Given the description of an element on the screen output the (x, y) to click on. 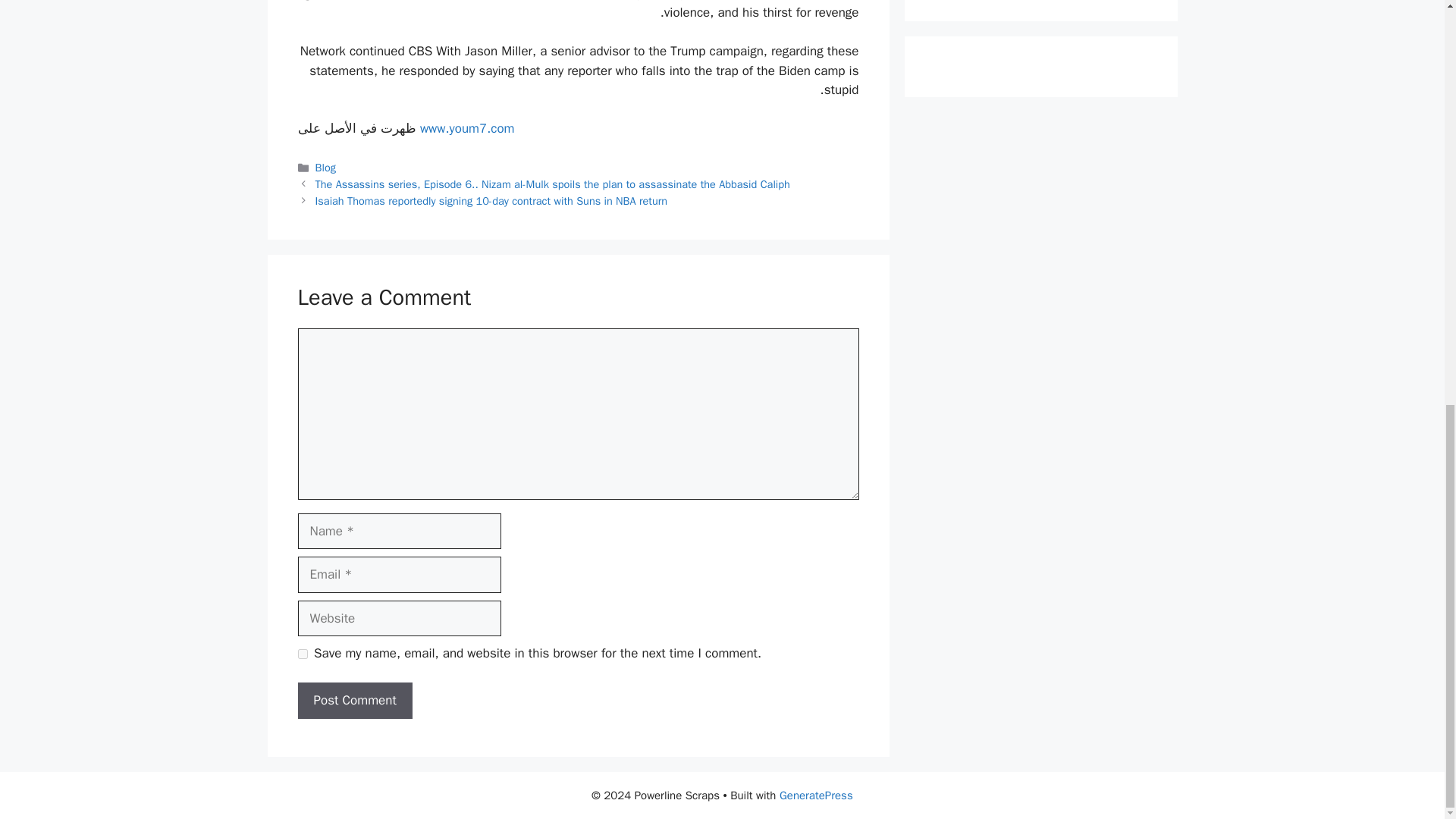
www.youm7.com (467, 128)
GeneratePress (815, 795)
Post Comment (354, 700)
Blog (325, 167)
Post Comment (354, 700)
yes (302, 654)
